Given the description of an element on the screen output the (x, y) to click on. 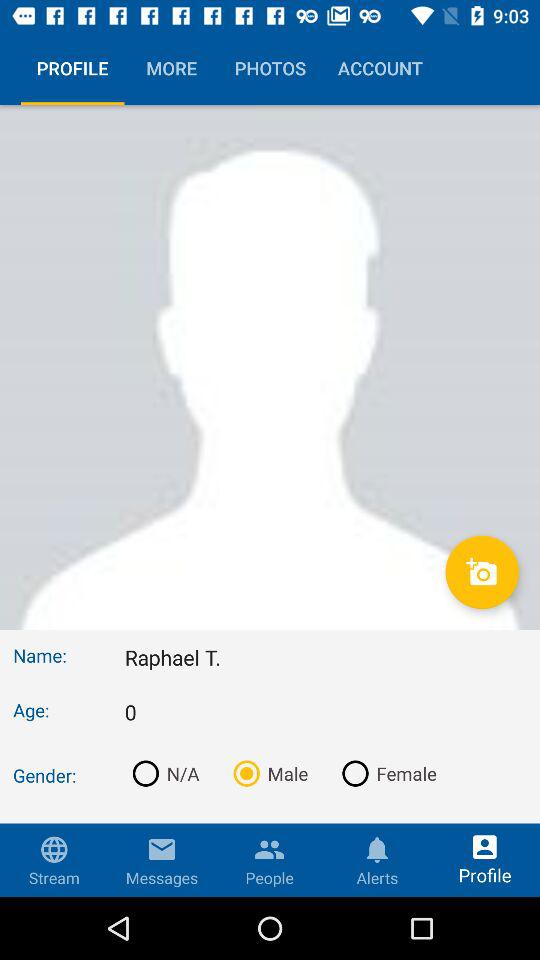
choose item to the right of more: item (325, 879)
